Given the description of an element on the screen output the (x, y) to click on. 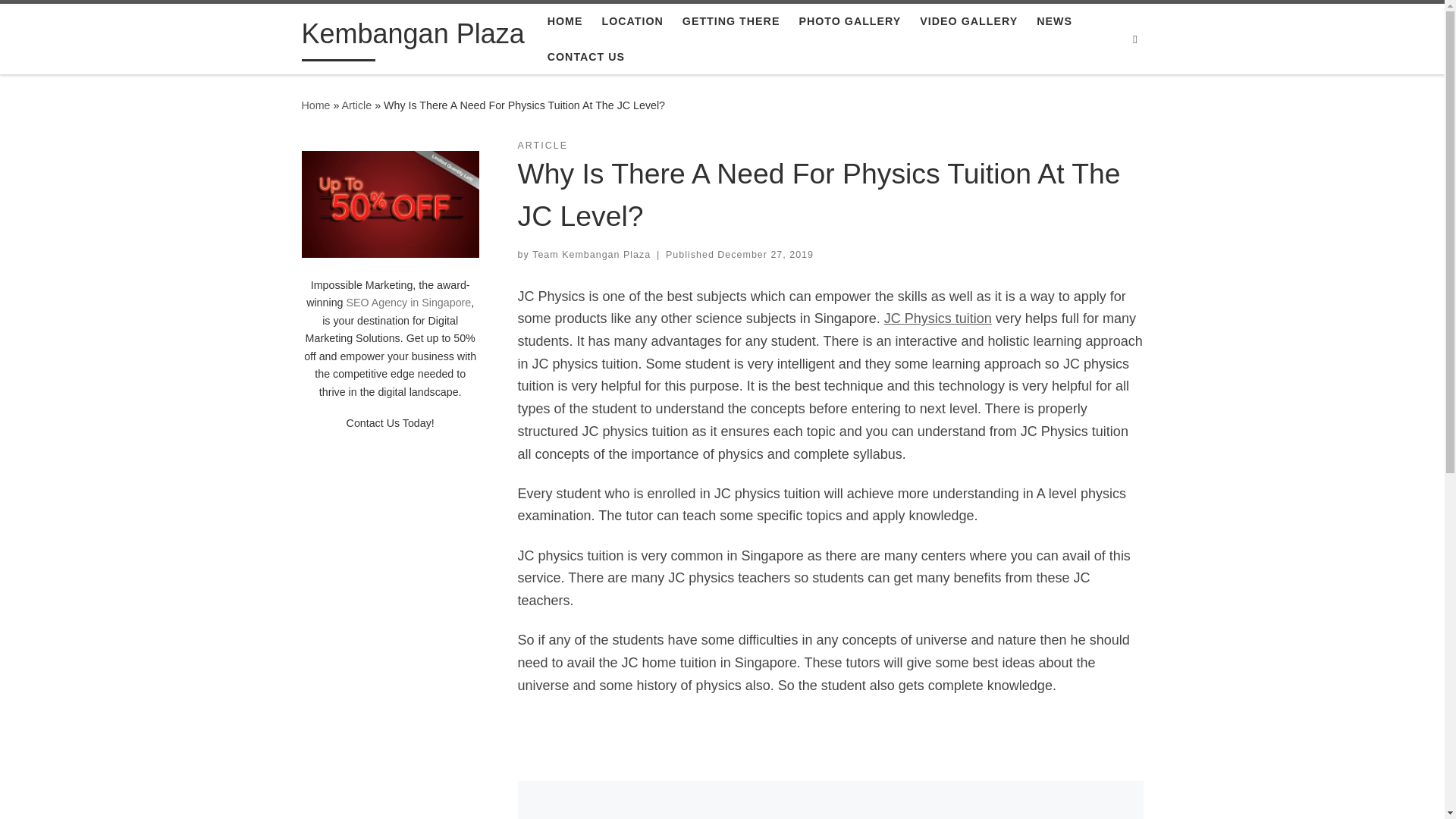
GETTING THERE (731, 21)
10:31 am (765, 254)
HOME (563, 21)
SEO Singapore, SEO Agency Singapore (408, 302)
JC Physics tuition (937, 318)
View all posts in Article (541, 145)
Digital Marketing Agency Singapore (390, 203)
CONTACT US (584, 57)
PHOTO GALLERY (849, 21)
NEWS (1054, 21)
Kembangan Plaza (412, 37)
ARTICLE (541, 145)
VIDEO GALLERY (968, 21)
SEO Agency in Singapore (408, 302)
View all posts by Team Kembangan Plaza (591, 254)
